Given the description of an element on the screen output the (x, y) to click on. 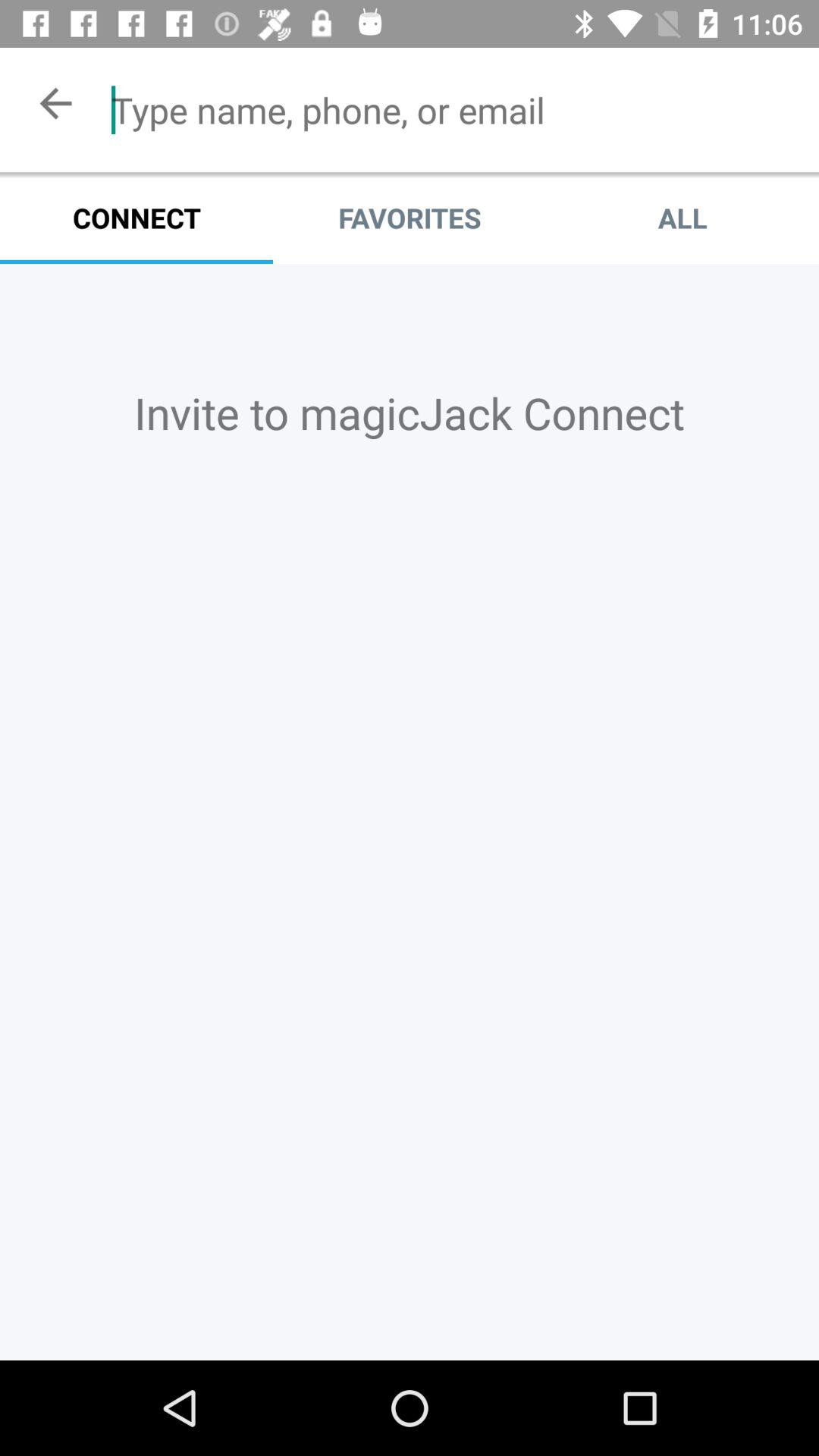
open the icon next to the favorites (682, 217)
